Given the description of an element on the screen output the (x, y) to click on. 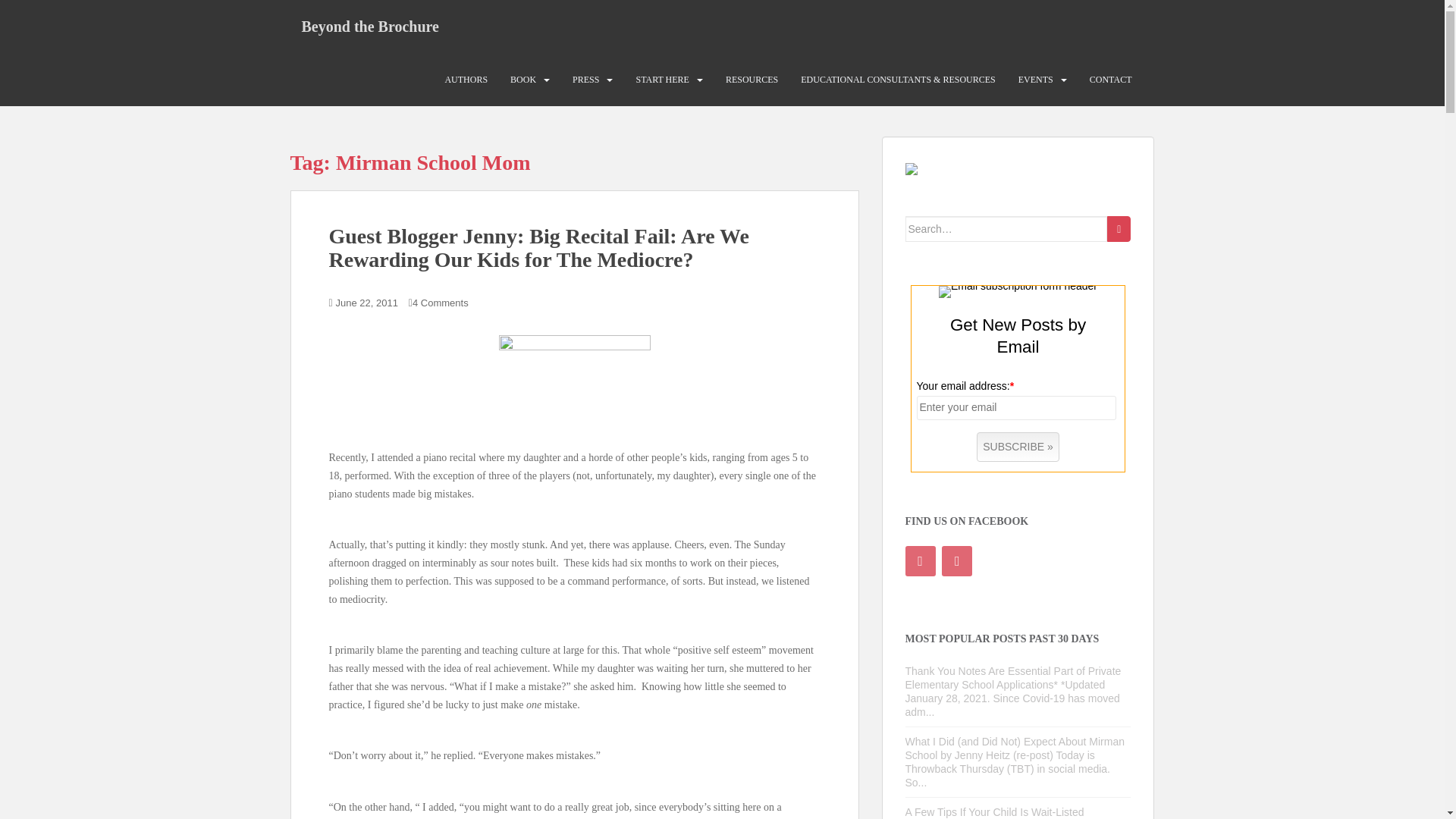
click to join (1017, 447)
4 Comments (440, 302)
Required (1011, 386)
RESOURCES (751, 79)
AUTHORS (465, 79)
CONTACT (1110, 79)
Enter your email (1015, 407)
BOOK (523, 79)
June 22, 2011 (366, 302)
PRESS (585, 79)
Beyond the Brochure (369, 26)
Search for: (1006, 228)
Beyond the Brochure (369, 26)
START HERE (661, 79)
EVENTS (1034, 79)
